Given the description of an element on the screen output the (x, y) to click on. 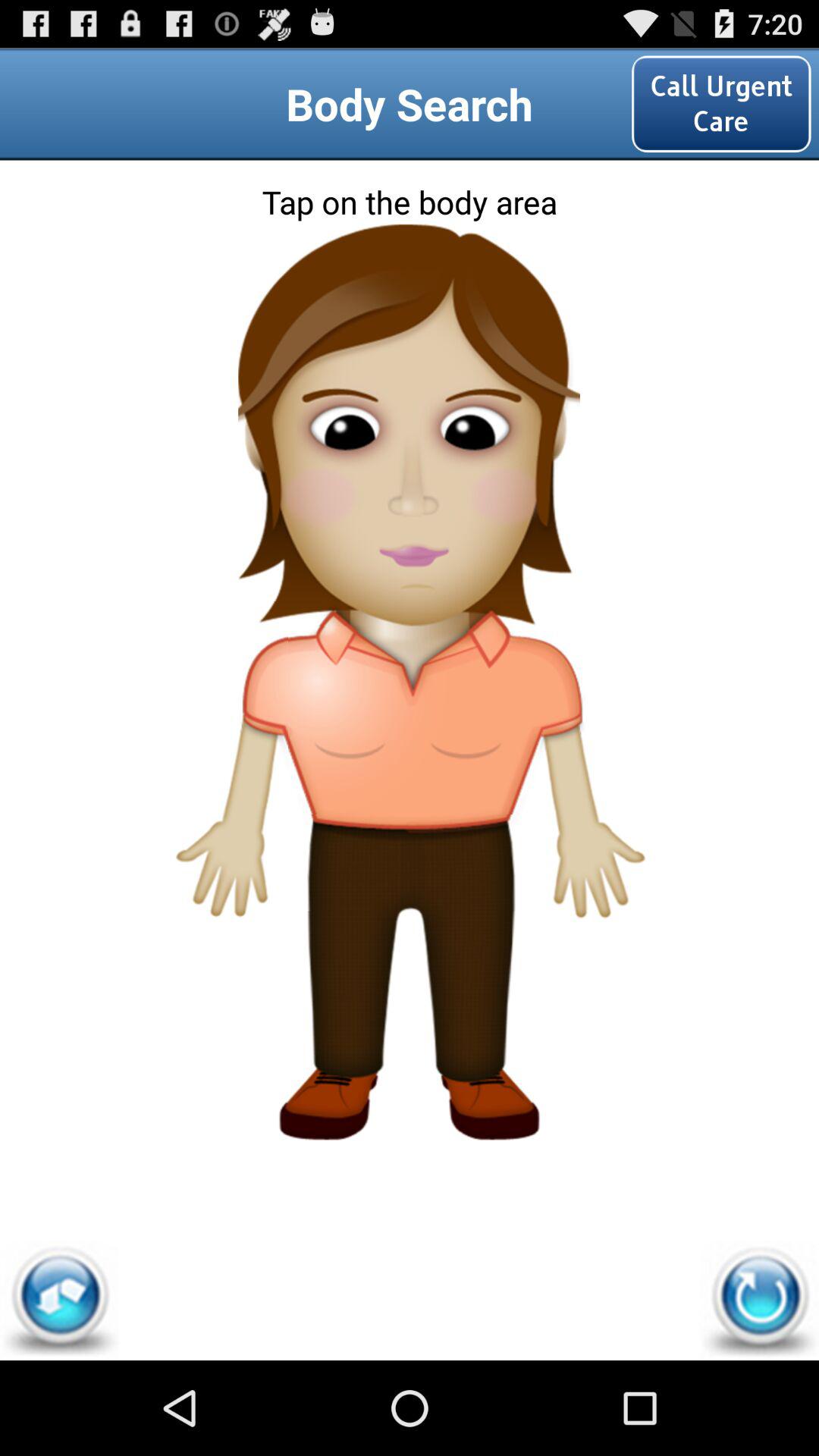
tapping crotch region (409, 862)
